Given the description of an element on the screen output the (x, y) to click on. 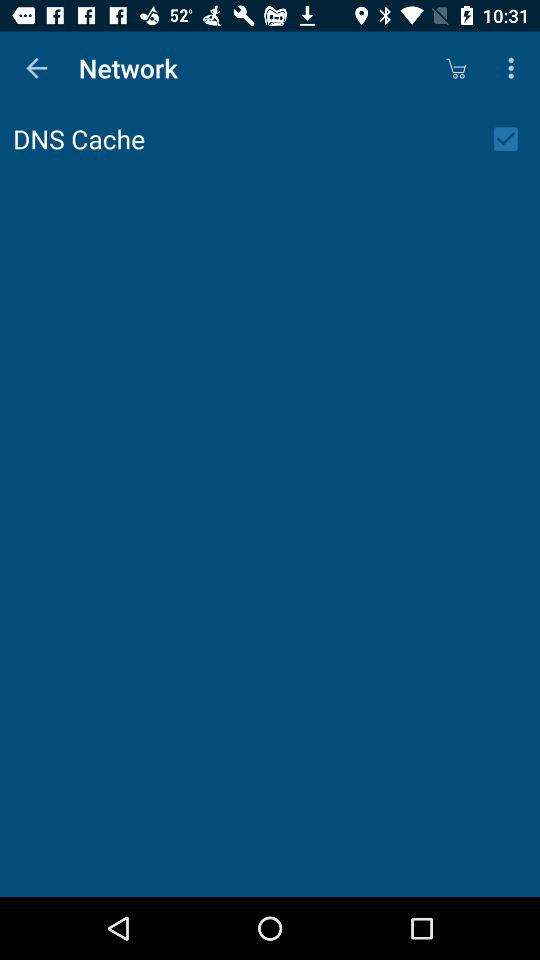
turn off the app to the right of network icon (455, 67)
